Given the description of an element on the screen output the (x, y) to click on. 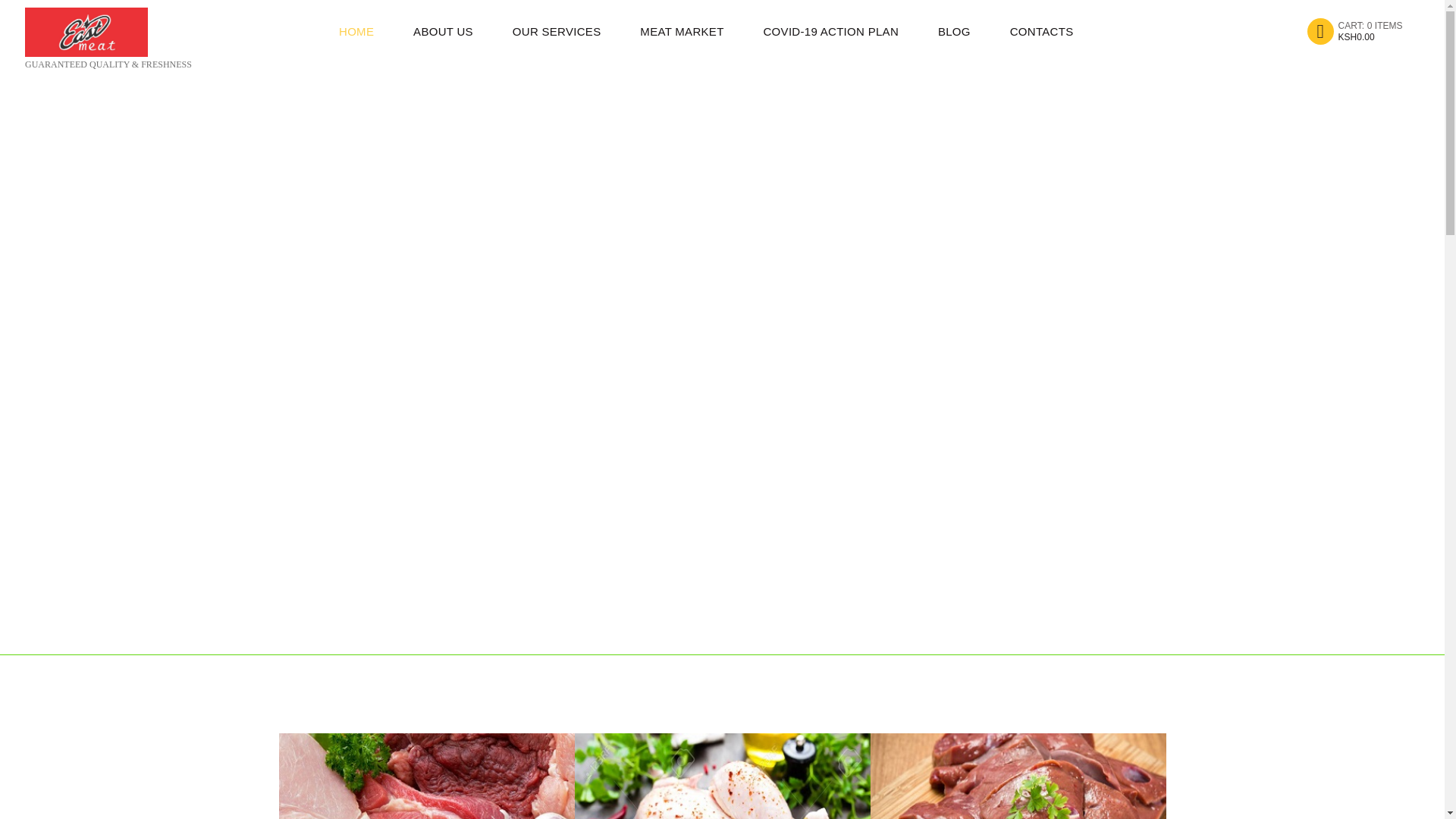
BLOG (954, 30)
MEAT MARKET (681, 30)
ABOUT US (443, 30)
HOME (355, 30)
OUR SERVICES (1354, 30)
CONTACTS (557, 30)
COVID-19 ACTION PLAN (1041, 30)
